Given the description of an element on the screen output the (x, y) to click on. 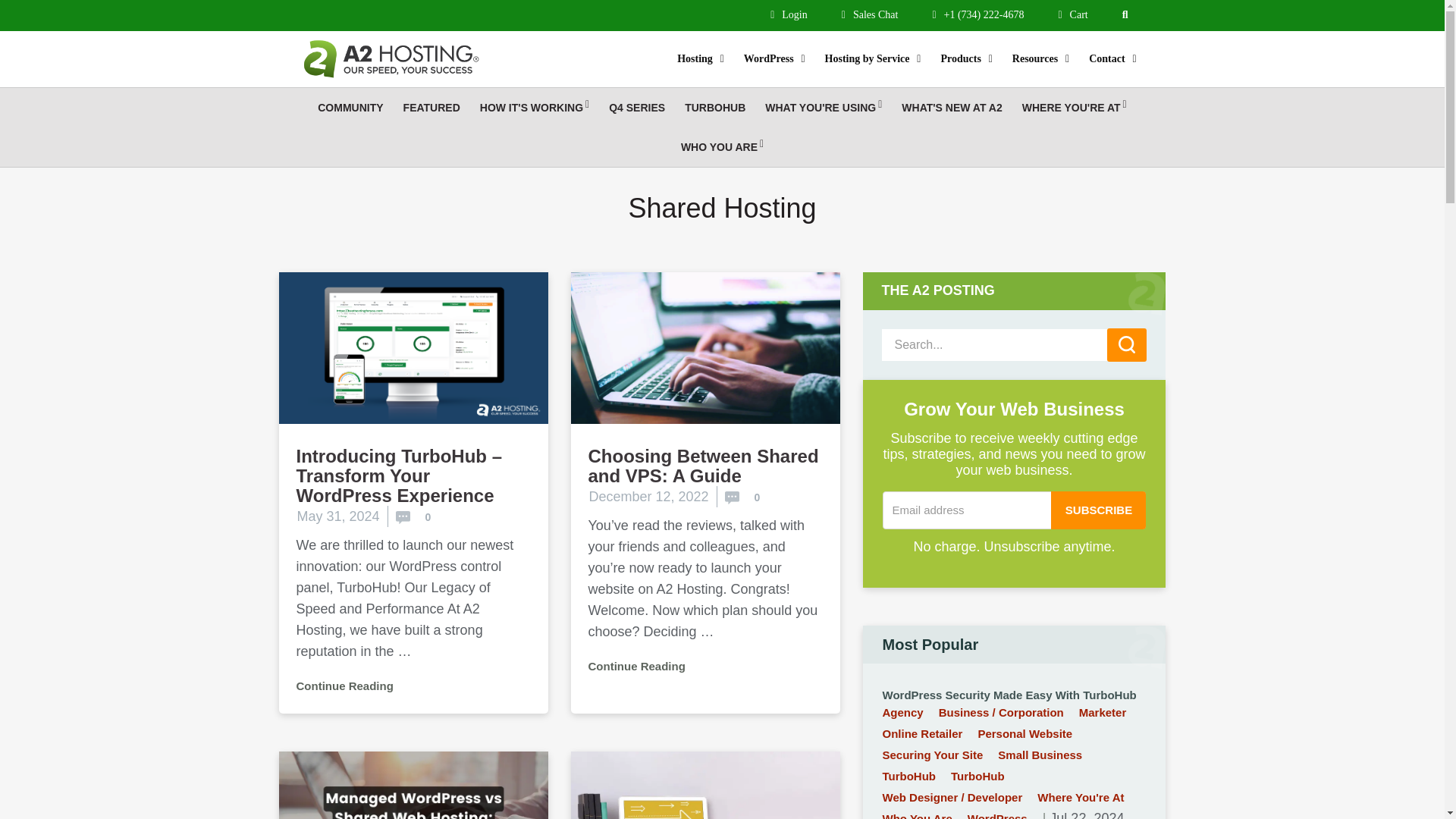
View all posts in What You're Using (823, 107)
Login (789, 14)
Subscribe (1098, 510)
Sales Chat (869, 14)
View all posts in How It's Working (534, 107)
View all posts in Q4 Series (636, 107)
View all posts in TurboHub (715, 107)
My Cart (1072, 14)
View all posts in Community (350, 107)
View all posts in Where You're At (1074, 107)
View all posts in What's New At A2 (951, 107)
View all posts in Featured (431, 107)
Cart (1072, 14)
Search on A2hosting (1128, 14)
Login (789, 14)
